Given the description of an element on the screen output the (x, y) to click on. 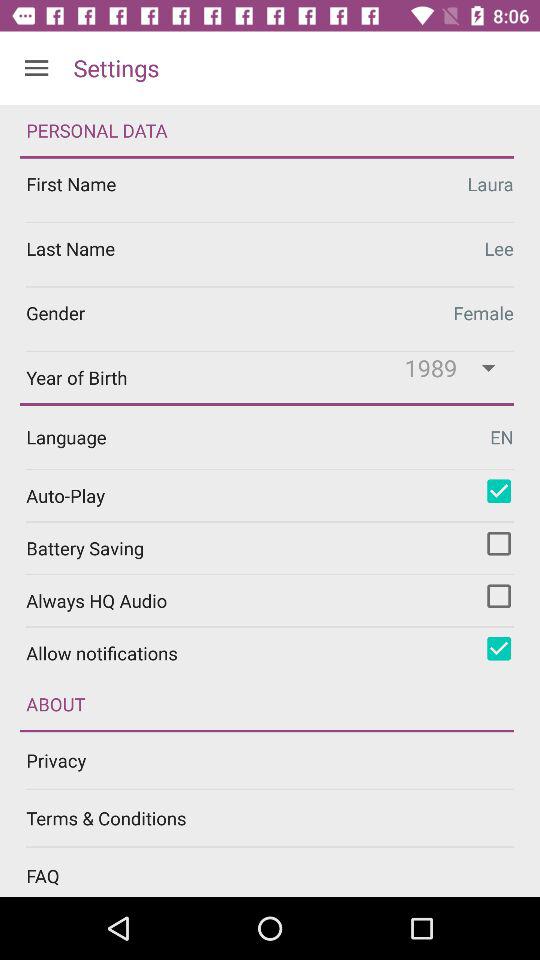
select always hq audio (499, 596)
